Given the description of an element on the screen output the (x, y) to click on. 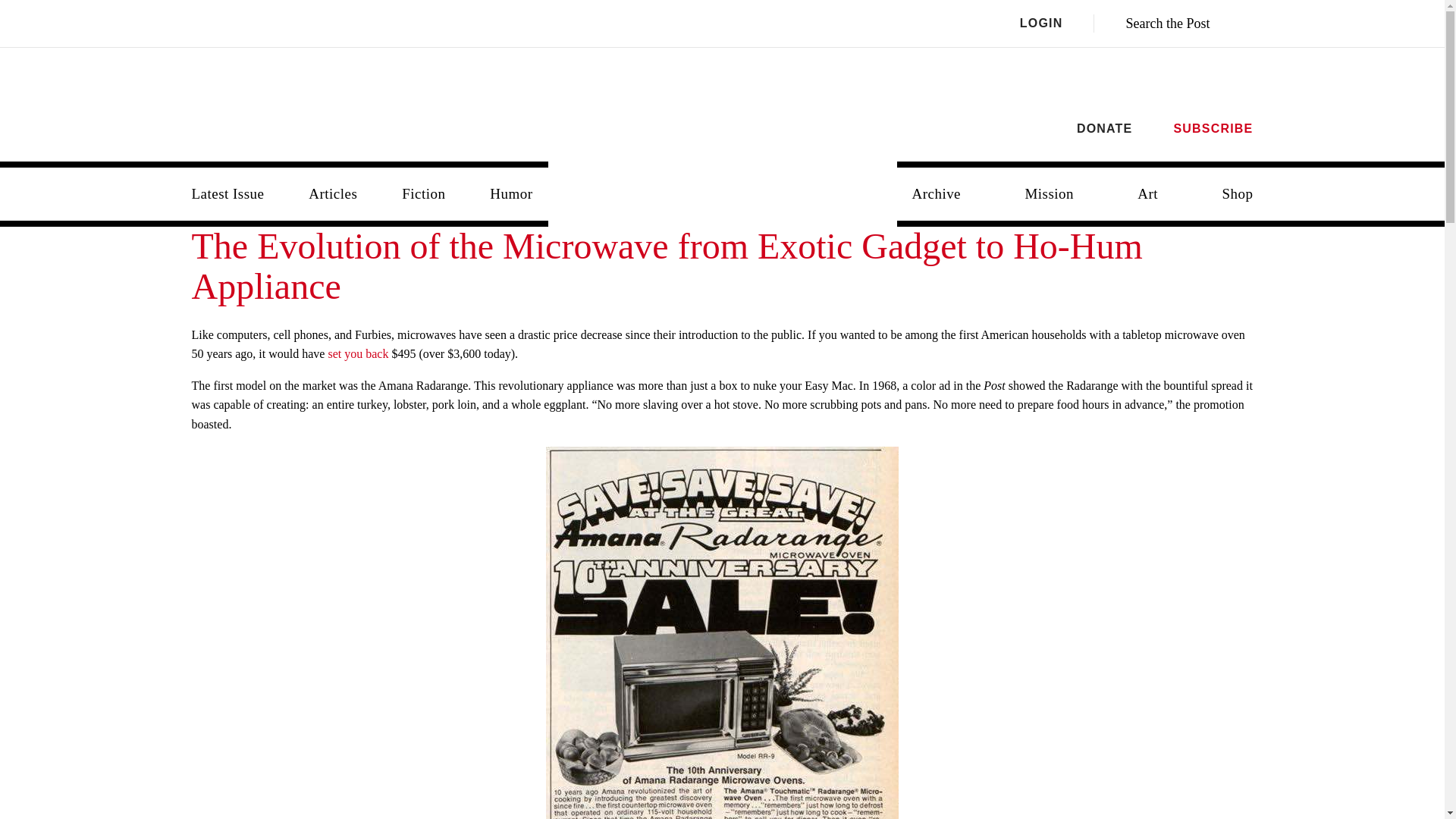
LOGIN (1057, 23)
DONATE (1104, 128)
Humor (510, 193)
Shop (1237, 193)
Art (1147, 193)
SUBSCRIBE (1212, 128)
Archive (935, 193)
The Saturday Evening Post (722, 181)
Articles (333, 193)
Latest Issue (227, 193)
Mission (1049, 193)
set you back (357, 353)
Fiction (423, 193)
